Given the description of an element on the screen output the (x, y) to click on. 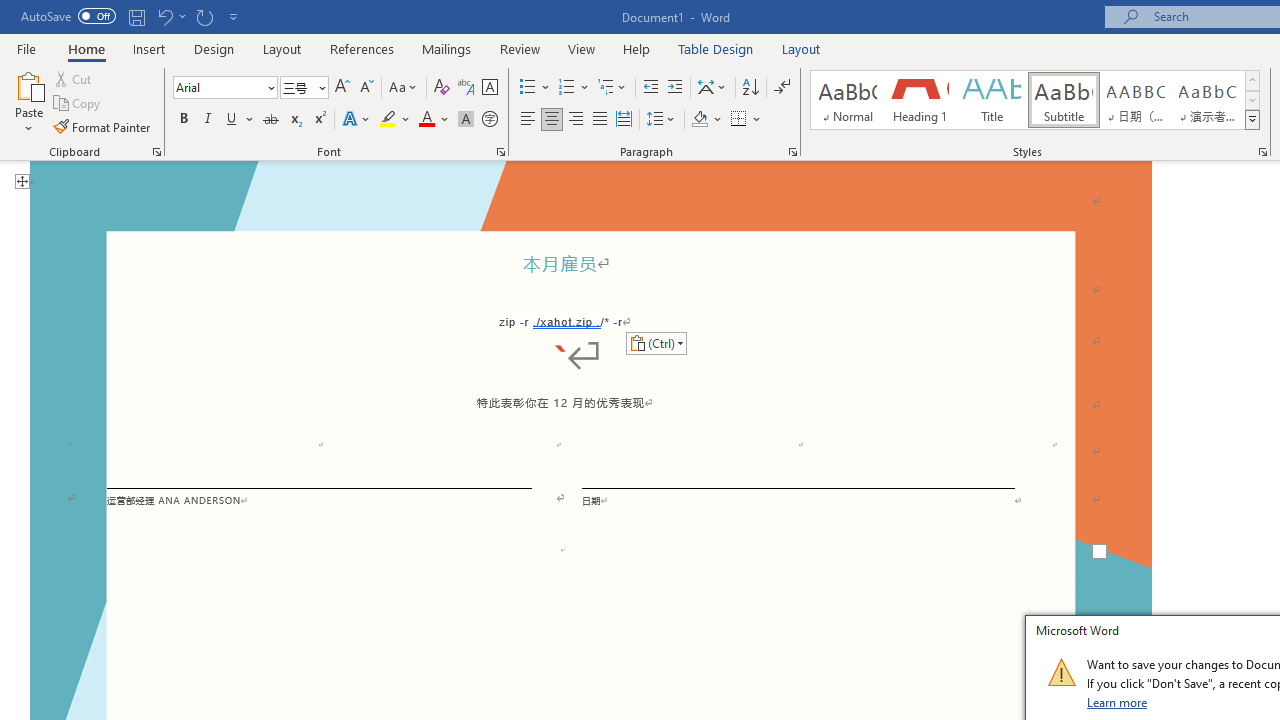
Shading (706, 119)
Subtitle (1063, 100)
Align Right (575, 119)
Character Shading (465, 119)
File Tab (26, 48)
Font Size (304, 87)
Bullets (535, 87)
AutoSave (68, 16)
Line and Paragraph Spacing (661, 119)
Shrink Font (365, 87)
Font (218, 87)
Font Color (434, 119)
Justify (599, 119)
Save (136, 15)
